Given the description of an element on the screen output the (x, y) to click on. 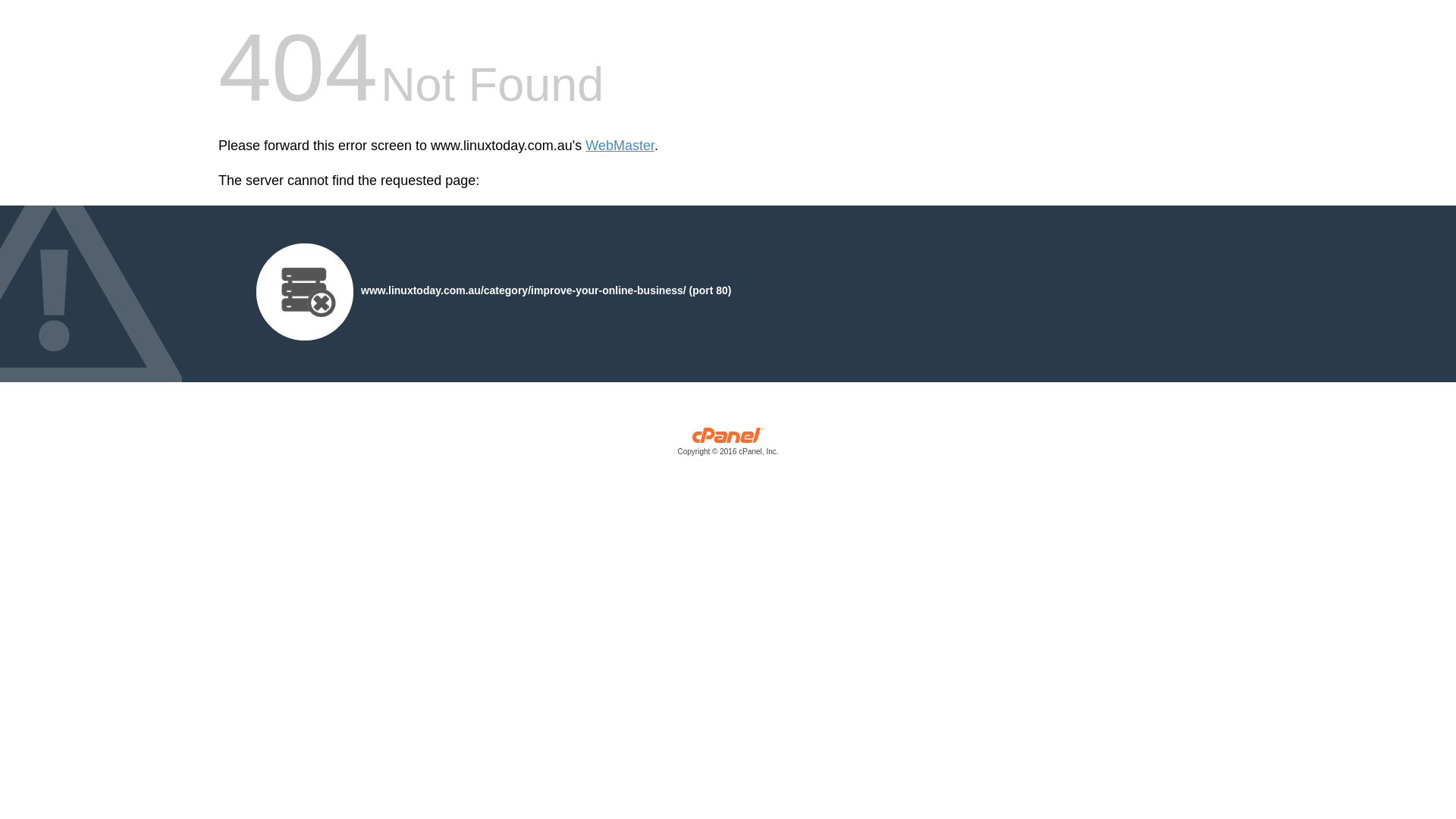
WebMaster Element type: text (619, 145)
